Given the description of an element on the screen output the (x, y) to click on. 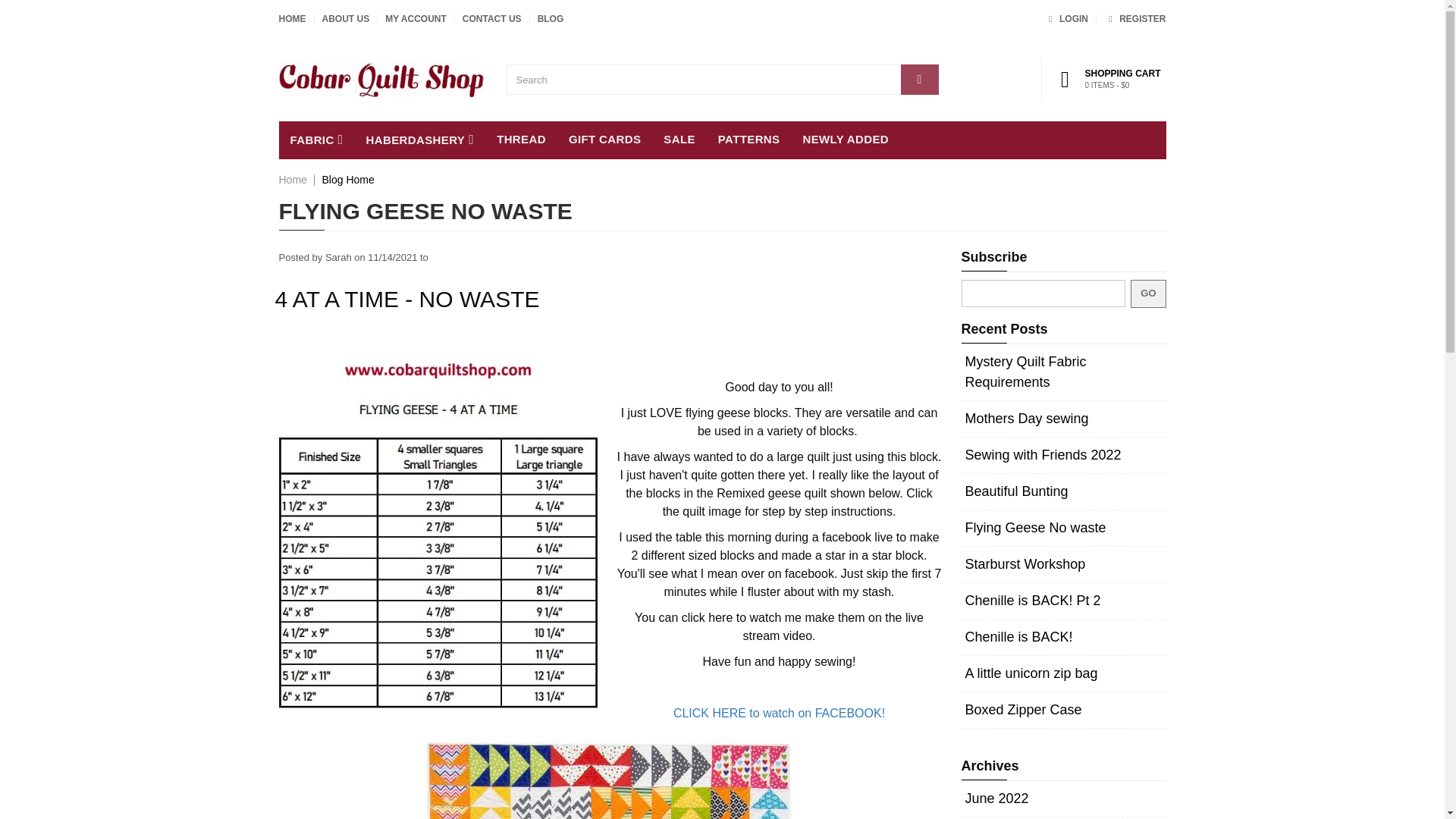
NEWLY ADDED (844, 139)
REGISTER (1134, 18)
THREAD (520, 139)
Blog Home (347, 179)
FABRIC (317, 139)
Home (293, 179)
HABERDASHERY (420, 139)
ABOUT US (345, 18)
HOME (292, 18)
GIFT CARDS (604, 139)
LOGIN (1065, 18)
GO (1148, 293)
CONTACT US (492, 18)
MY ACCOUNT (415, 18)
CLICK HERE to watch on FACEBOOK! (778, 712)
